Given the description of an element on the screen output the (x, y) to click on. 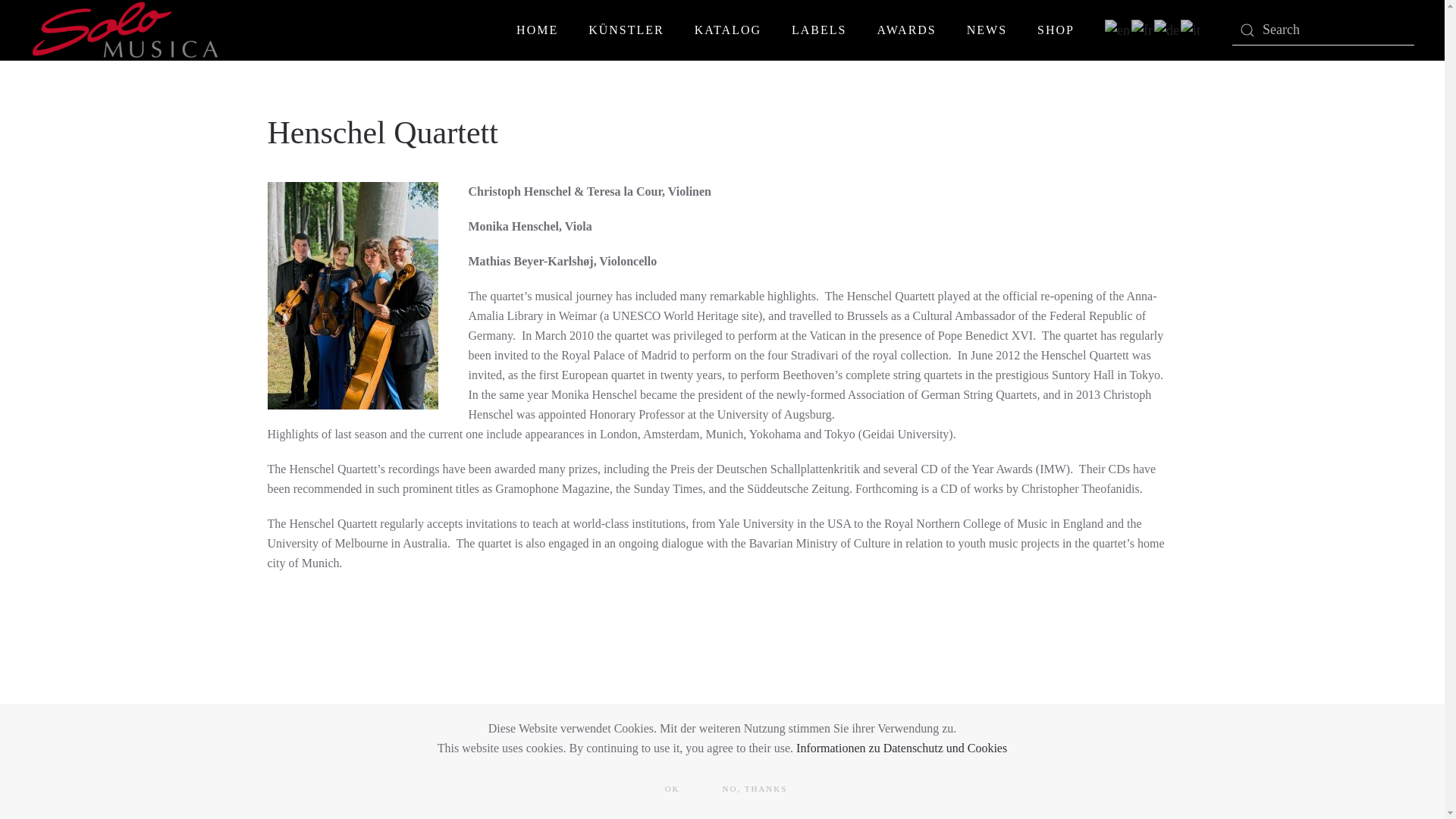
German (1167, 29)
KATALOG (727, 30)
LABELS (818, 30)
English (1118, 29)
Italian (1191, 29)
French (1142, 29)
